Given the description of an element on the screen output the (x, y) to click on. 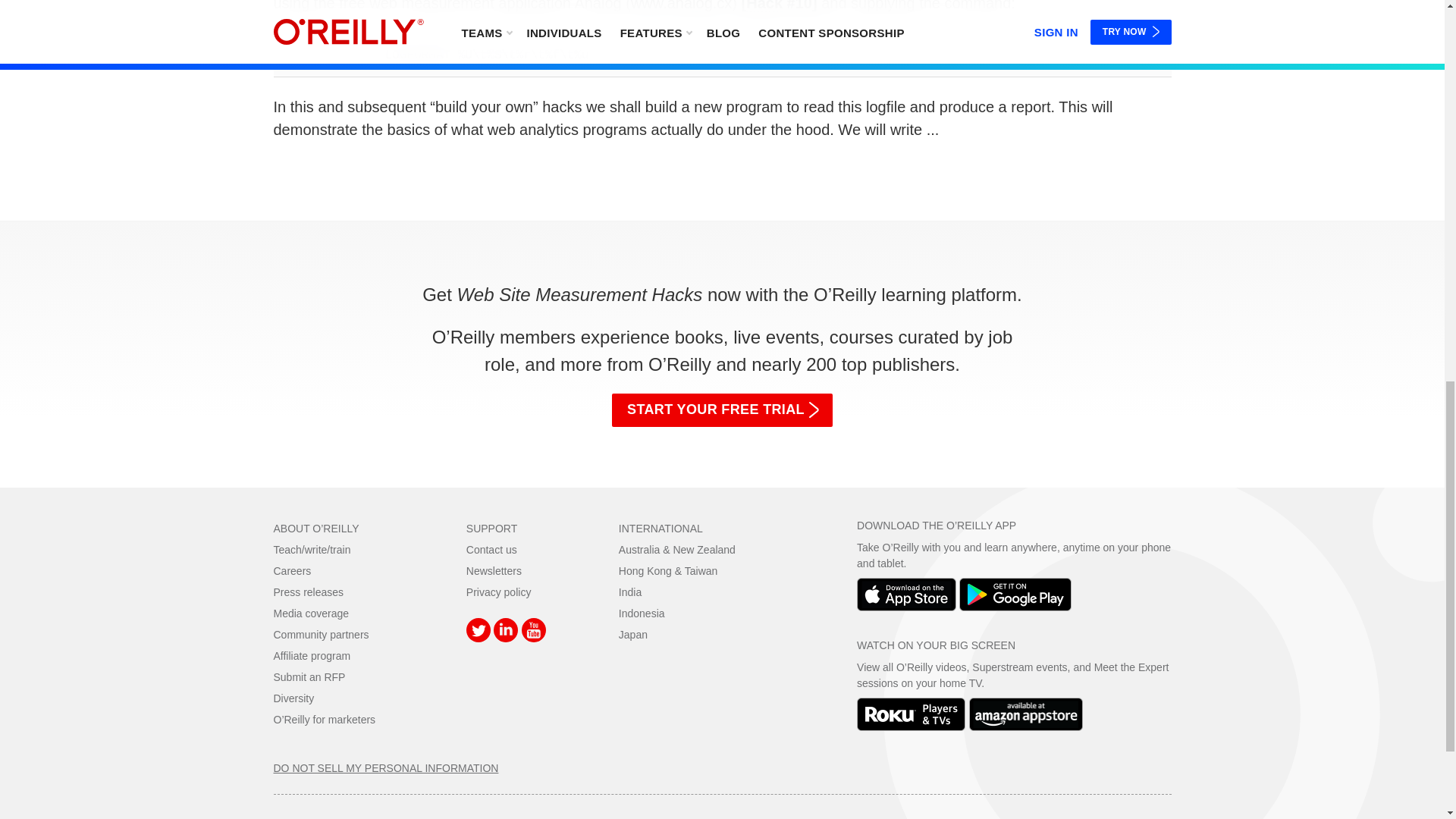
Diversity (293, 698)
Careers (292, 571)
Press releases (308, 592)
www.analog.cx (681, 6)
Community partners (320, 634)
Affiliate program (311, 655)
Submit an RFP (309, 676)
Media coverage (311, 613)
Find a Free or Cheap Web Measurement Solution (781, 6)
Build Your Own Web Measurement Application: The Core Code (721, 70)
START YOUR FREE TRIAL (721, 409)
